Given the description of an element on the screen output the (x, y) to click on. 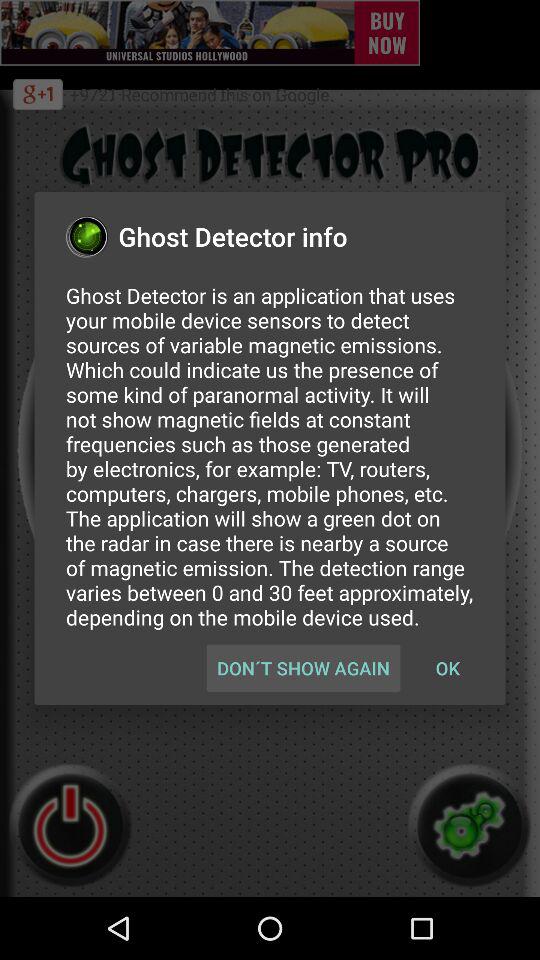
launch button to the left of the ok icon (303, 667)
